Given the description of an element on the screen output the (x, y) to click on. 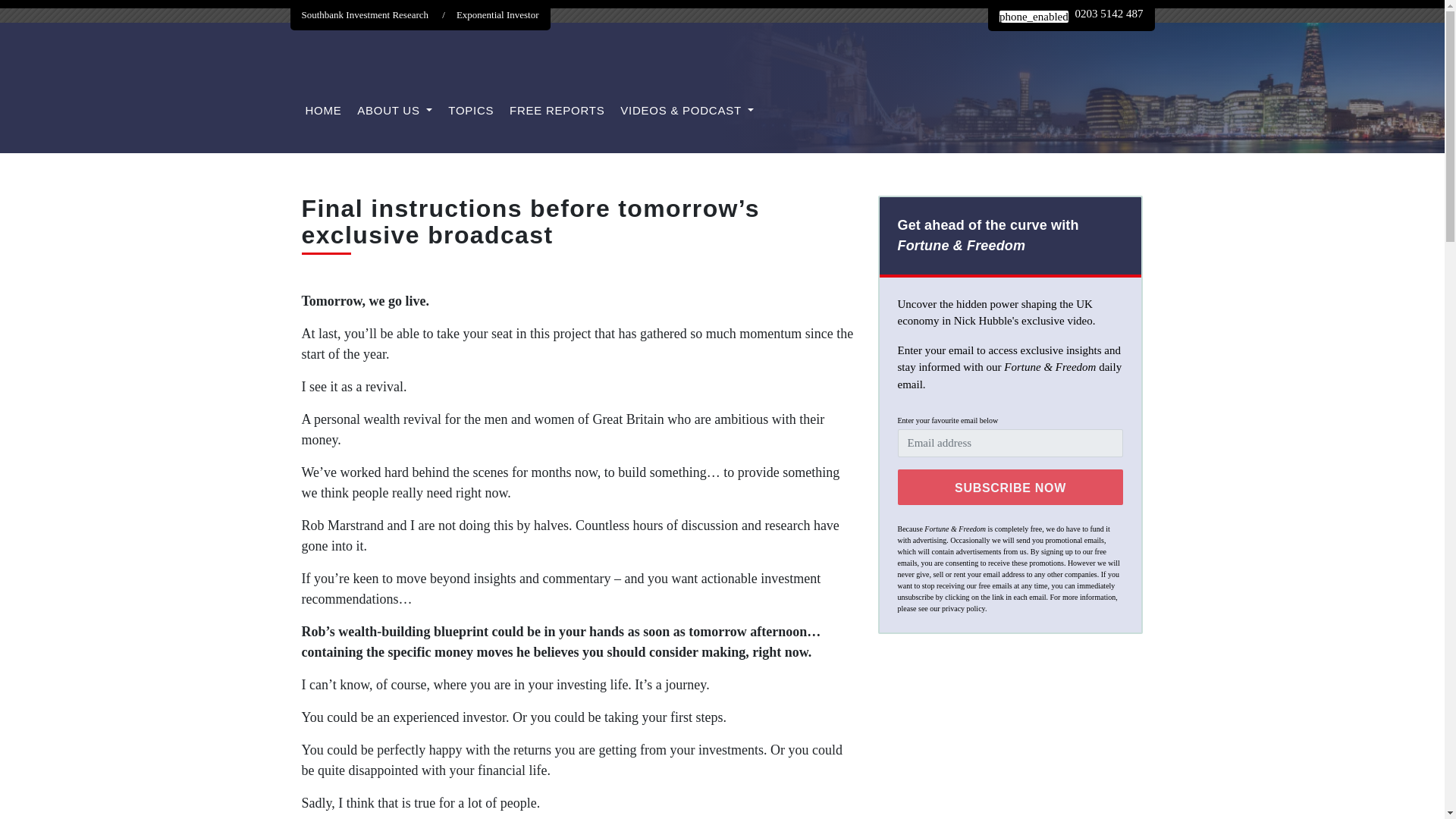
0203 5142 487 (1070, 14)
TOPICS (470, 110)
SUBSCRIBE NOW (1011, 486)
Exponential Investor (497, 14)
HOME (322, 110)
ABOUT US (394, 110)
privacy policy (963, 608)
FREE REPORTS (556, 110)
Southbank Investment Research (379, 14)
